Given the description of an element on the screen output the (x, y) to click on. 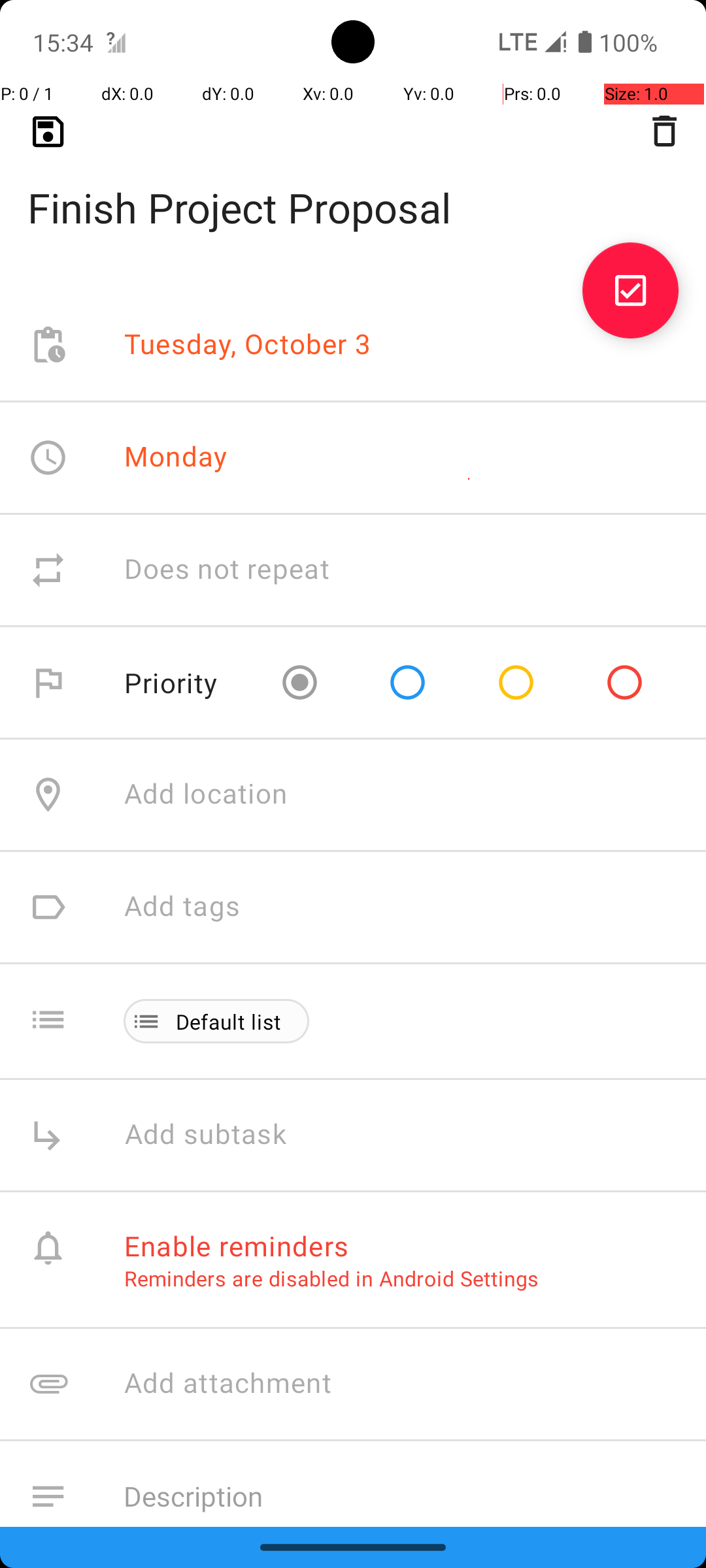
Tuesday, October 3 Element type: android.widget.TextView (247, 344)
